Given the description of an element on the screen output the (x, y) to click on. 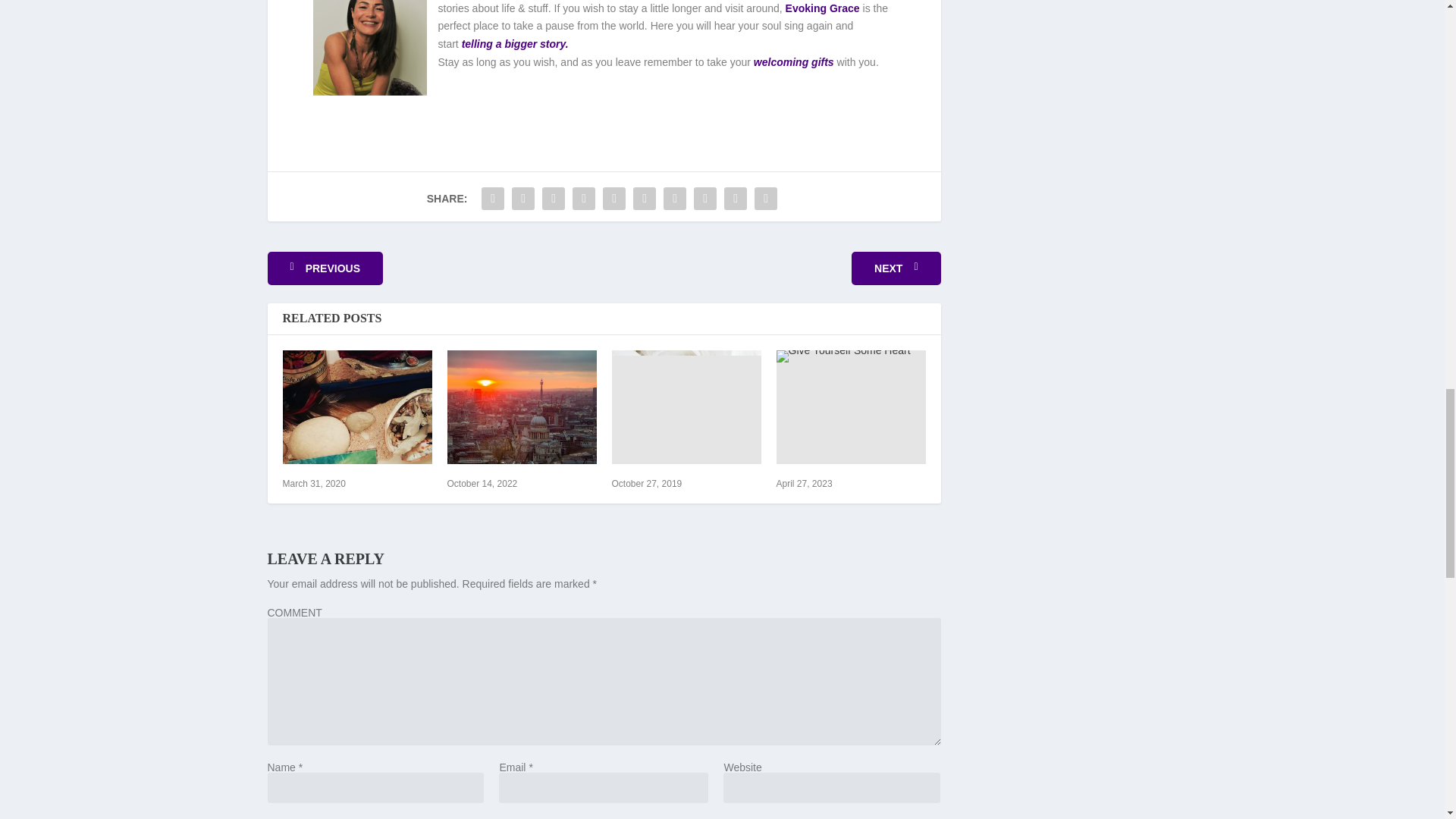
Share "We Are All Scarred" via Email (735, 198)
Share "We Are All Scarred" via Stumbleupon (705, 198)
Share "We Are All Scarred" via Facebook (492, 198)
Share "We Are All Scarred" via Tumblr (583, 198)
telling a bigger story. (515, 43)
Share "We Are All Scarred" via Buffer (674, 198)
Share "We Are All Scarred" via Twitter (523, 198)
Share "We Are All Scarred" via Pinterest (613, 198)
welcoming gifts (794, 61)
Evoking Grace (823, 8)
Share "We Are All Scarred" via LinkedIn (643, 198)
